Given the description of an element on the screen output the (x, y) to click on. 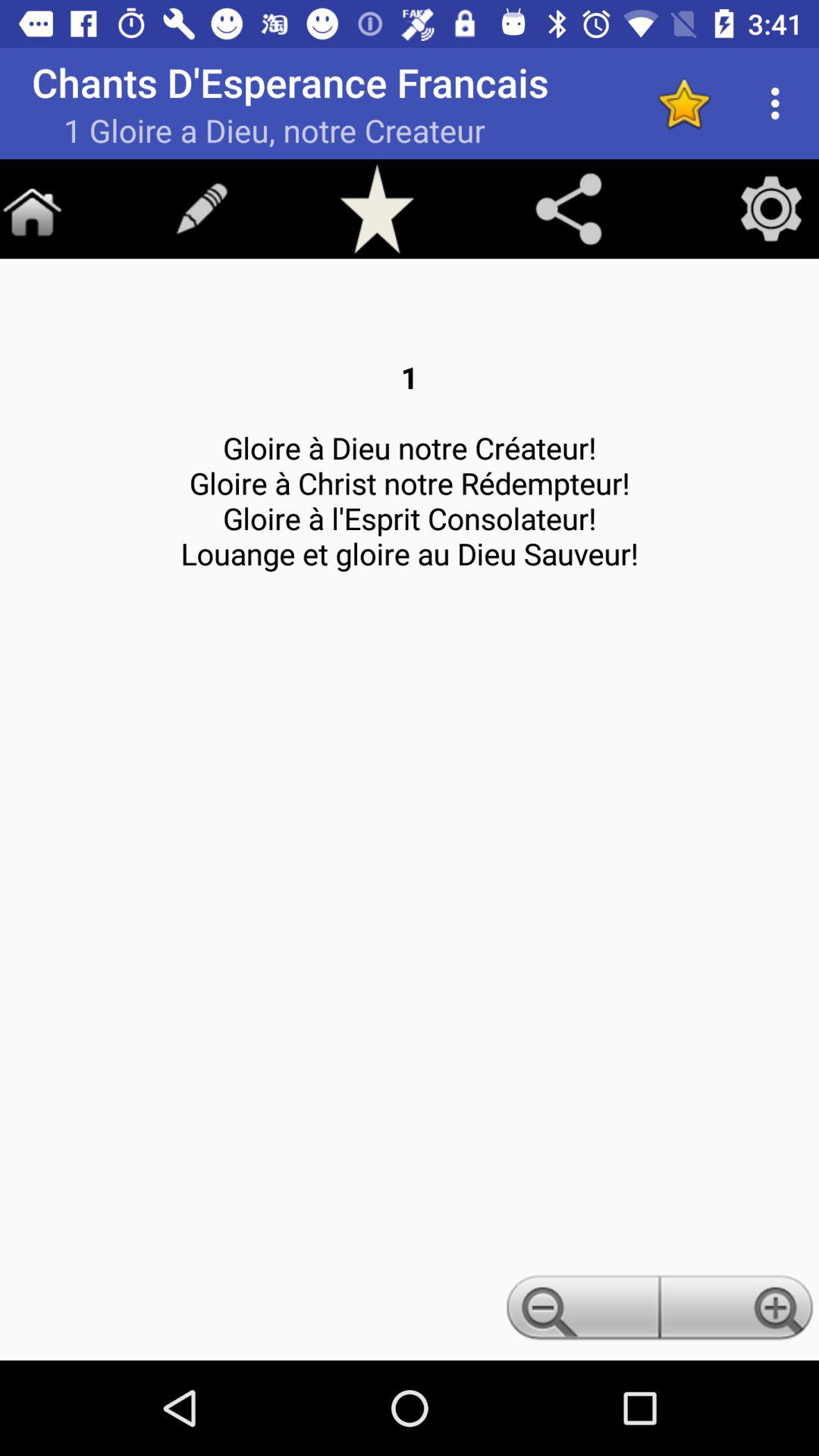
add to favorite (377, 208)
